Given the description of an element on the screen output the (x, y) to click on. 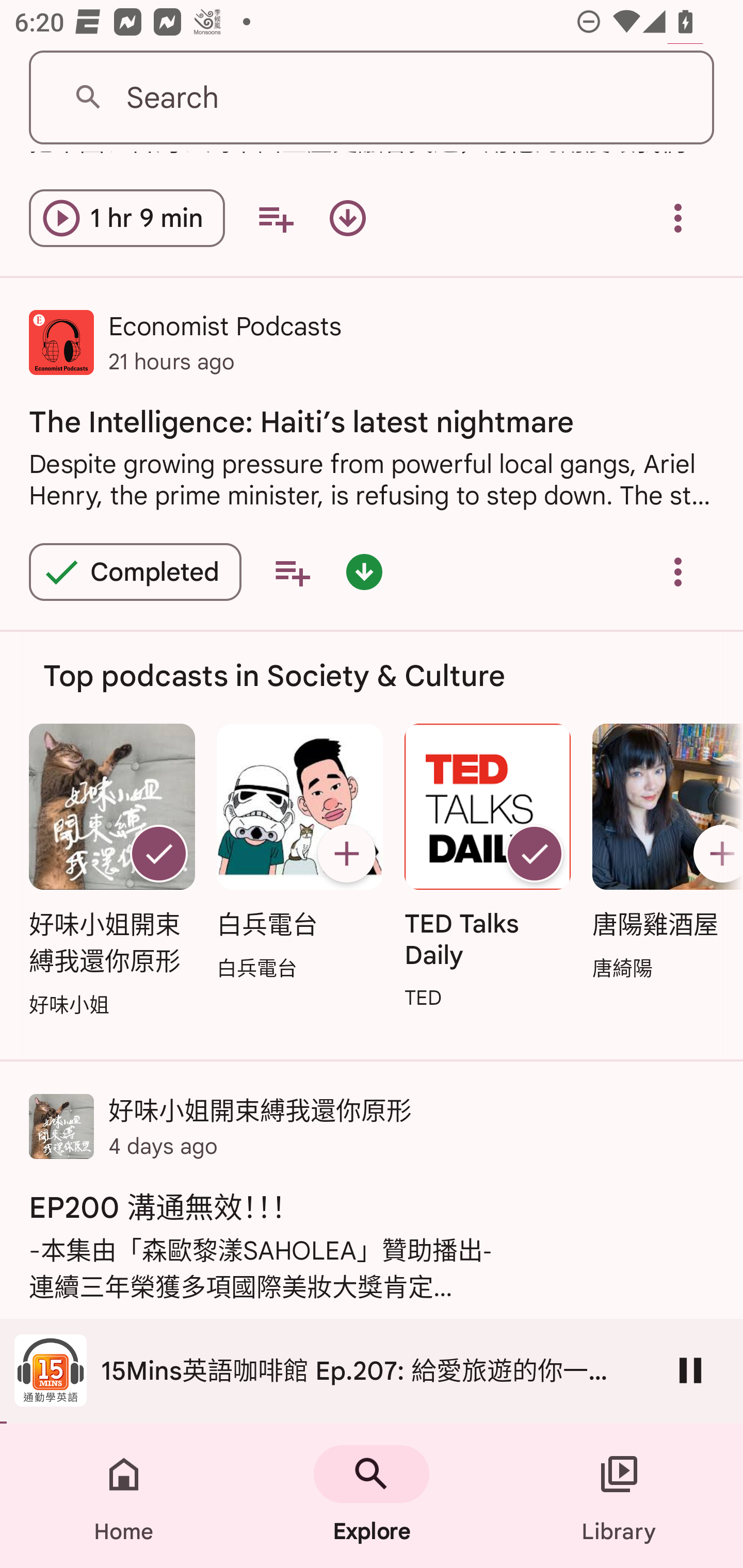
Search (371, 97)
Add to your queue (275, 218)
Download episode (347, 218)
Overflow menu (677, 218)
Add to your queue (291, 571)
Episode downloaded - double tap for options (364, 571)
Overflow menu (677, 571)
好味小姐開束縛我還你原形 Unsubscribe 好味小姐開束縛我還你原形 好味小姐 (111, 871)
白兵電台 Subscribe 白兵電台 白兵電台 (299, 853)
TED Talks Daily Unsubscribe TED Talks Daily TED (487, 868)
唐陽雞酒屋 Subscribe 唐陽雞酒屋 唐綺陽 (662, 853)
Unsubscribe (158, 852)
Subscribe (346, 852)
Unsubscribe (534, 852)
Subscribe (714, 852)
Pause (690, 1370)
Home (123, 1495)
Library (619, 1495)
